Given the description of an element on the screen output the (x, y) to click on. 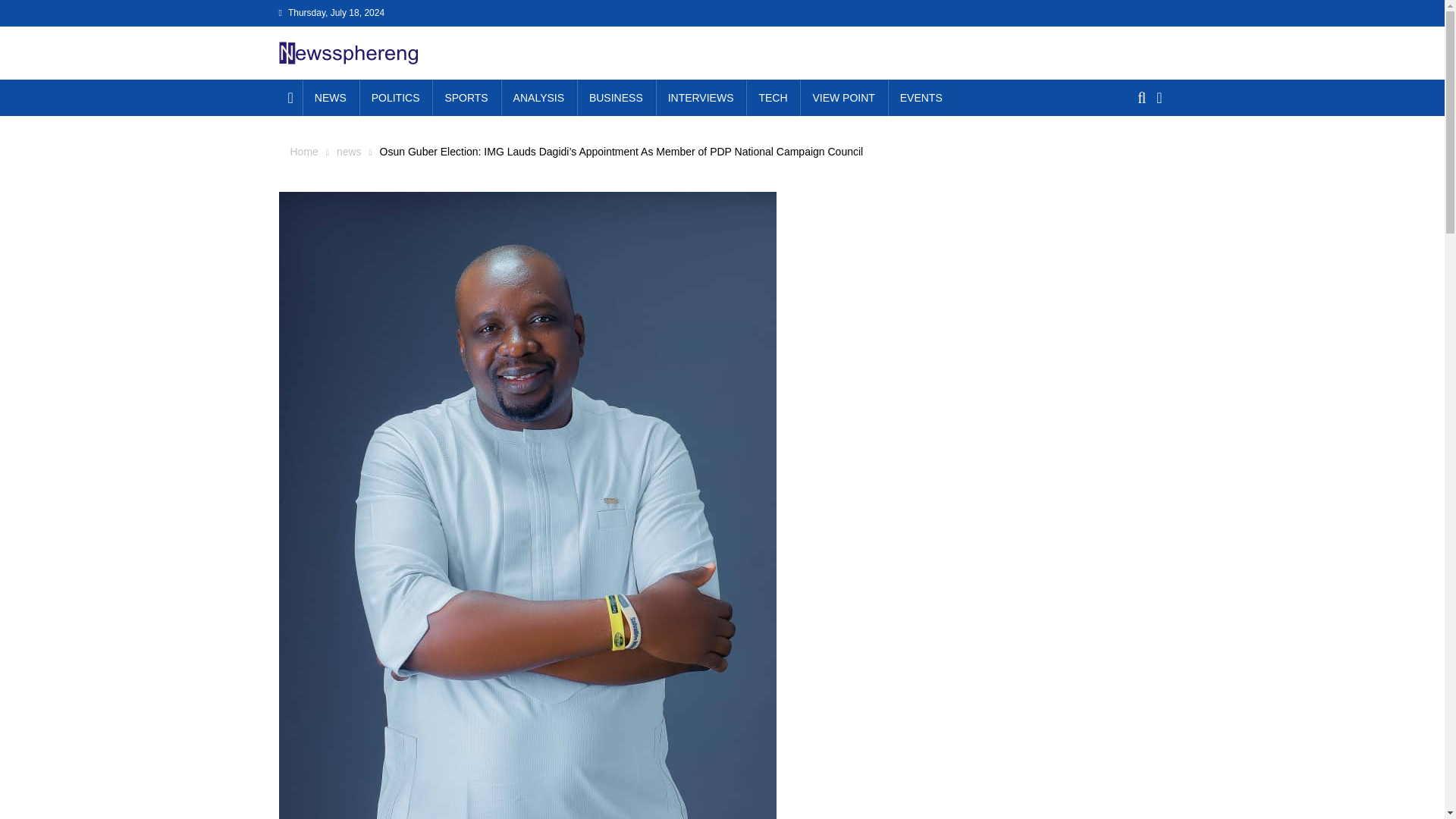
POLITICS (395, 97)
NEWS (330, 97)
Home (303, 151)
Search (1133, 153)
INTERVIEWS (700, 97)
news (348, 151)
EVENTS (921, 97)
SPORTS (465, 97)
VIEW POINT (842, 97)
ANALYSIS (538, 97)
BUSINESS (615, 97)
TECH (772, 97)
